Given the description of an element on the screen output the (x, y) to click on. 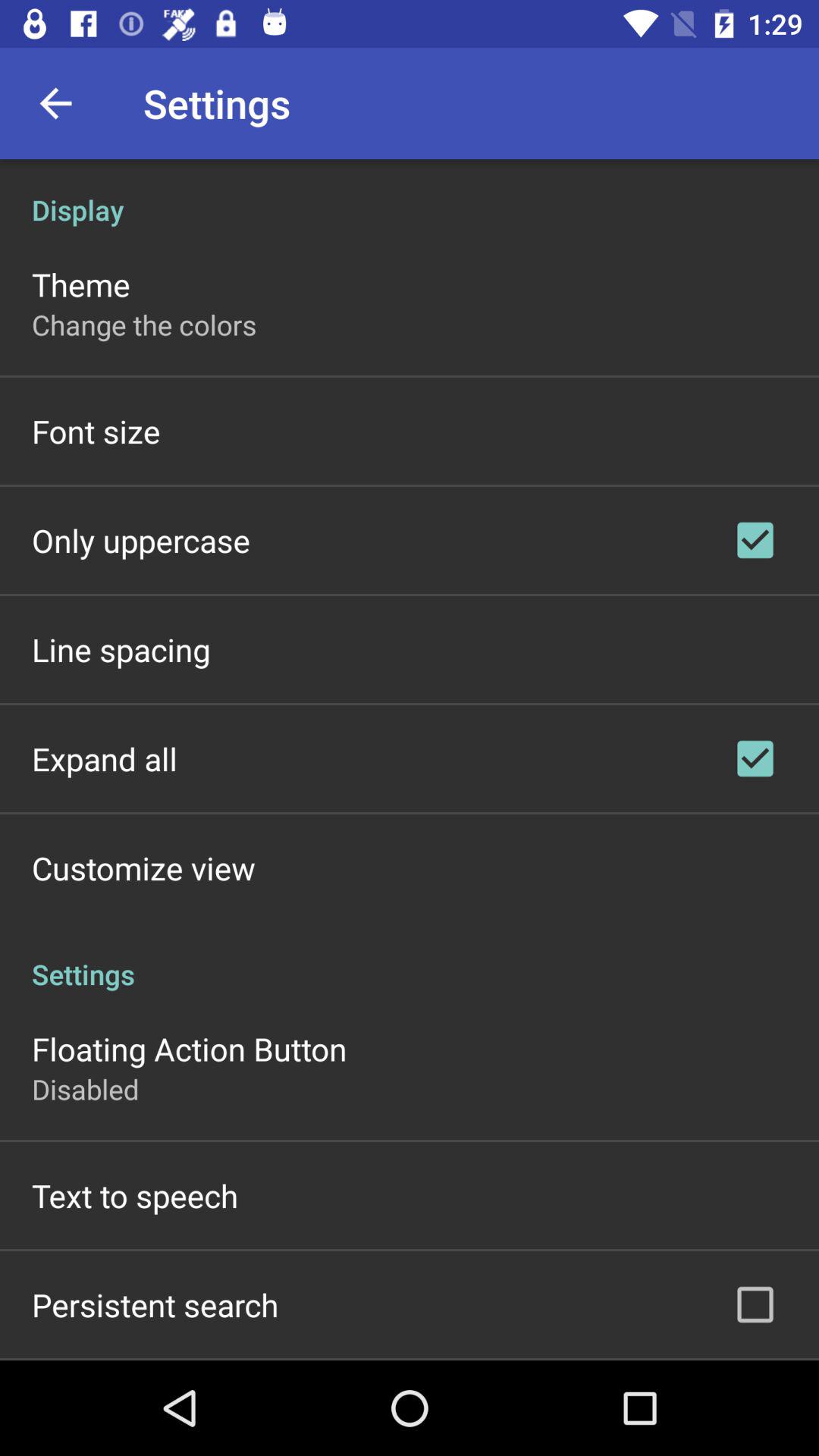
turn on icon below the line spacing item (104, 758)
